Given the description of an element on the screen output the (x, y) to click on. 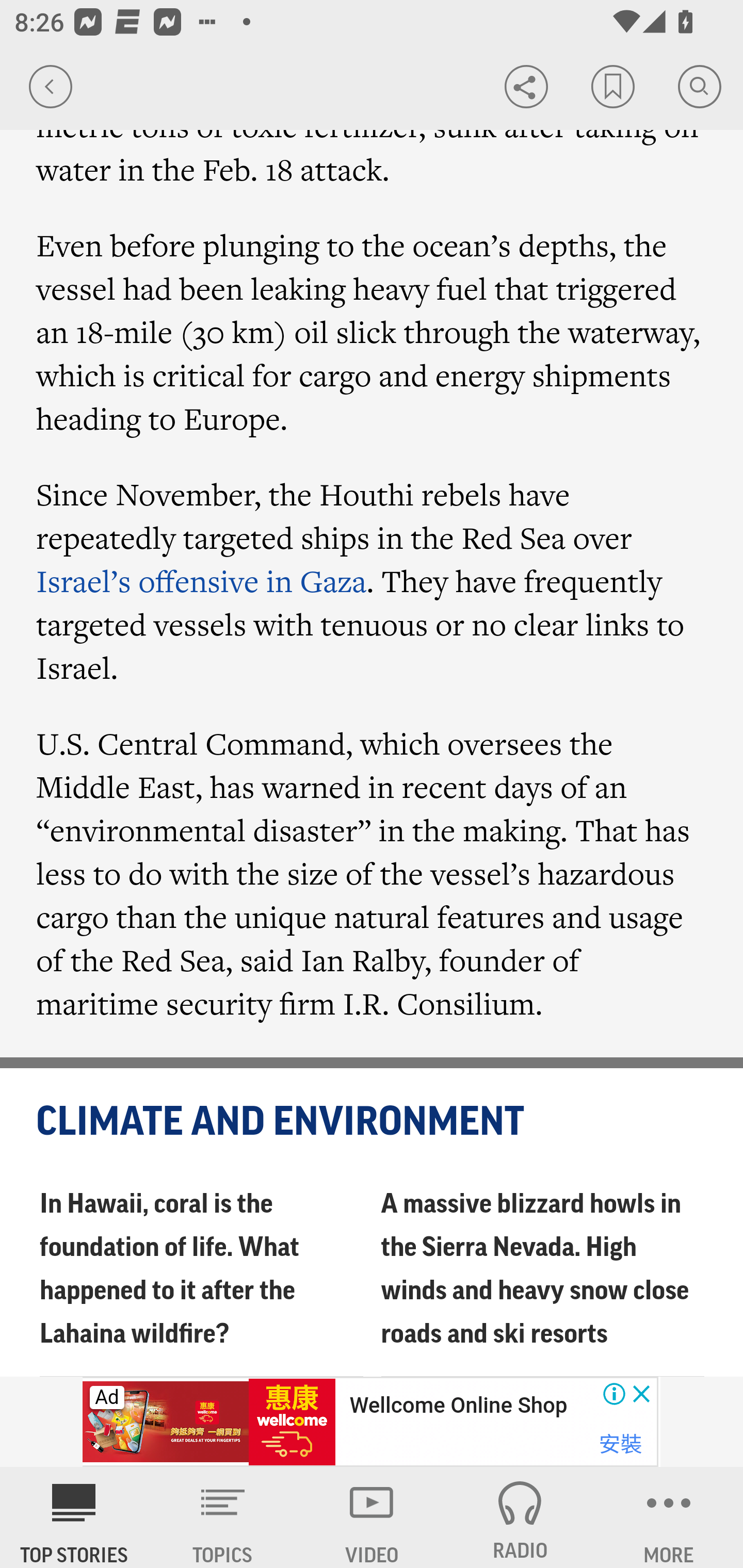
Israel’s offensive in Gaza (202, 580)
CLIMATE AND ENVIRONMENT (372, 1122)
Wellcome Online Shop (457, 1405)
安裝 (620, 1444)
AP News TOP STORIES (74, 1517)
TOPICS (222, 1517)
VIDEO (371, 1517)
RADIO (519, 1517)
MORE (668, 1517)
